Given the description of an element on the screen output the (x, y) to click on. 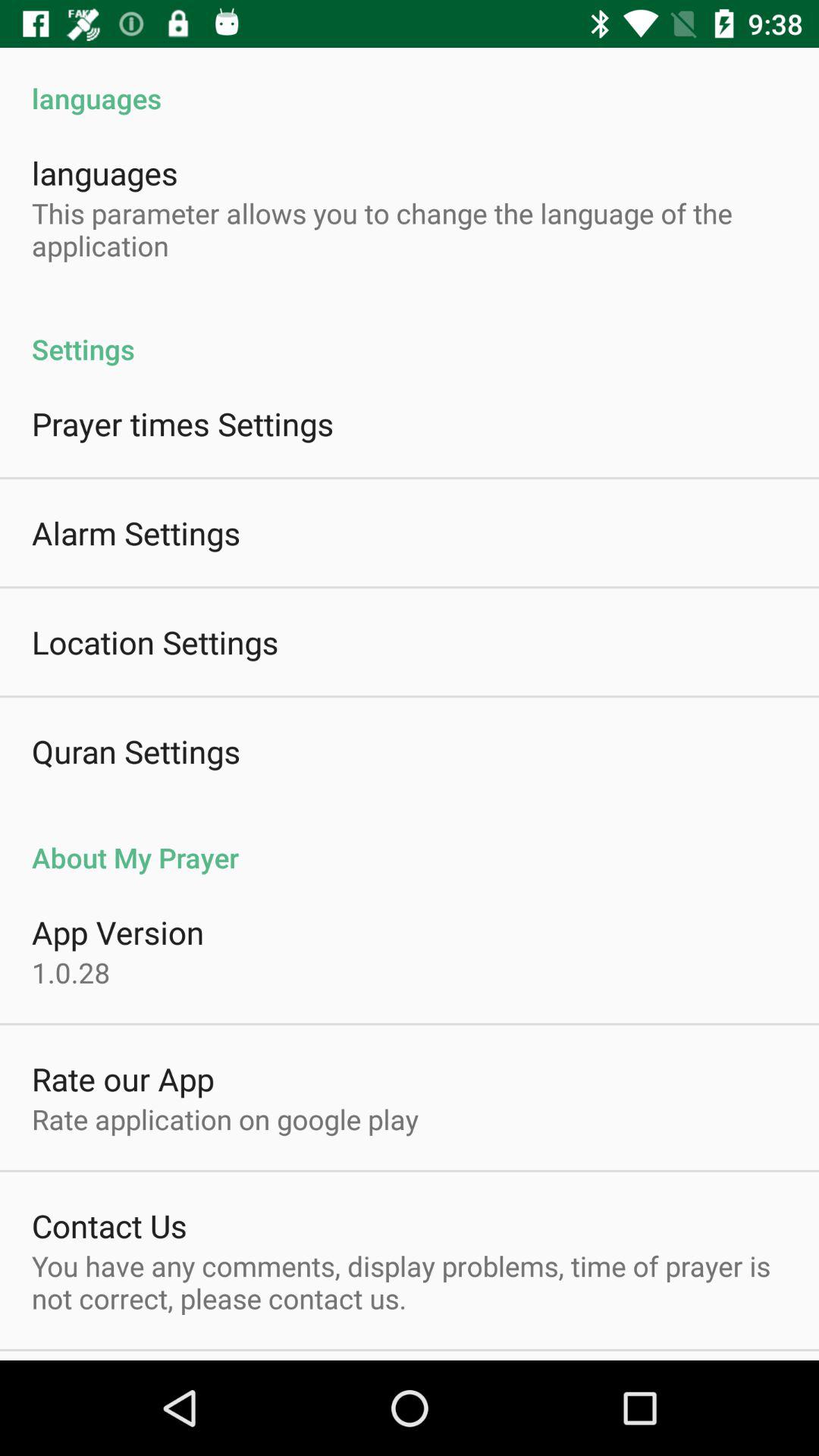
select item at the center (409, 841)
